Given the description of an element on the screen output the (x, y) to click on. 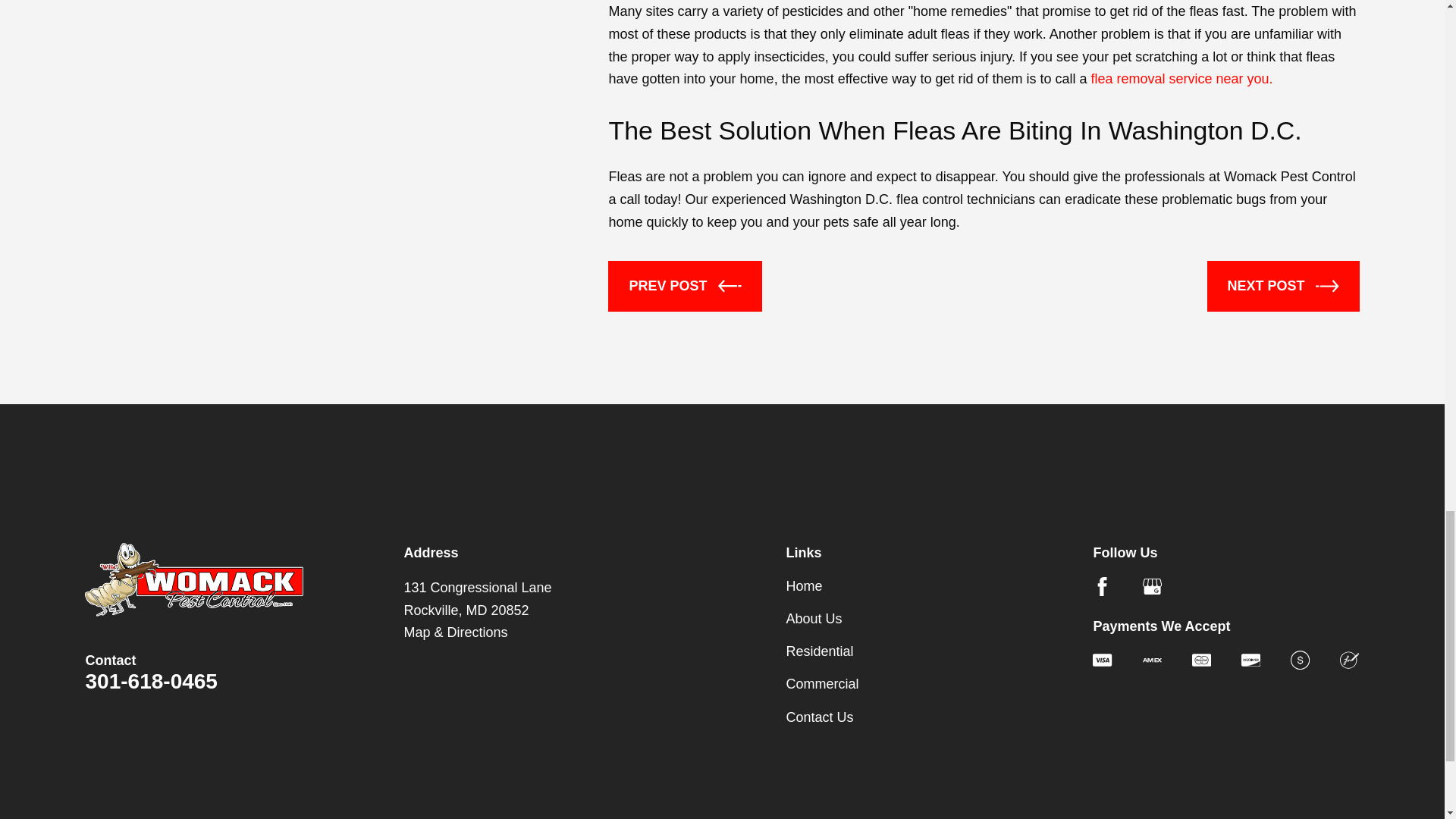
Google Business Profile (1151, 586)
Home (193, 579)
Cash (1299, 659)
Visa (1102, 659)
Discover (1250, 659)
Facebook (1102, 586)
AMEX (1151, 659)
MasterCard (1201, 659)
